Given the description of an element on the screen output the (x, y) to click on. 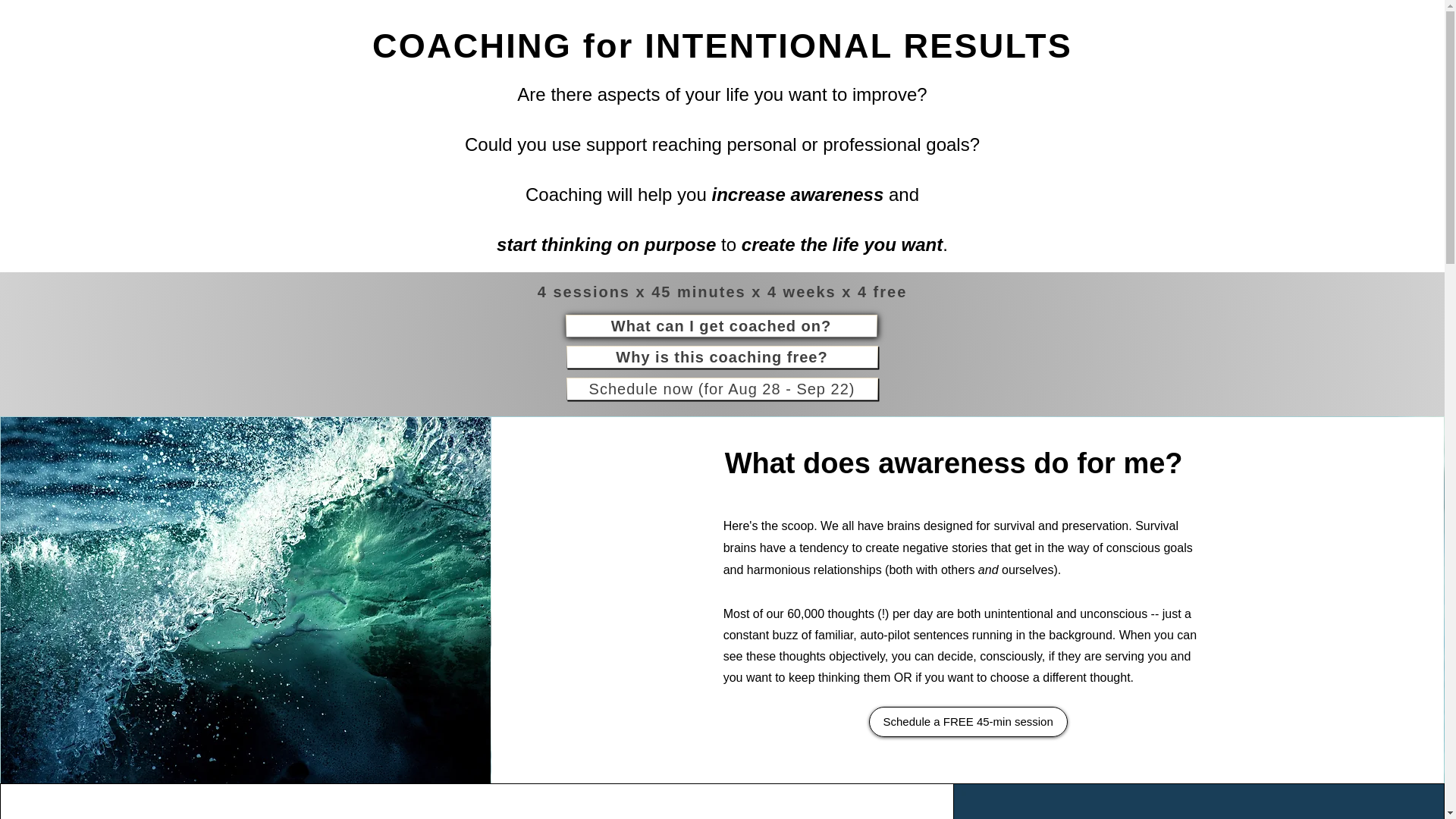
Schedule a FREE 45-min session (968, 721)
What can I get coached on? (721, 325)
Why is this coaching free? (721, 356)
